Given the description of an element on the screen output the (x, y) to click on. 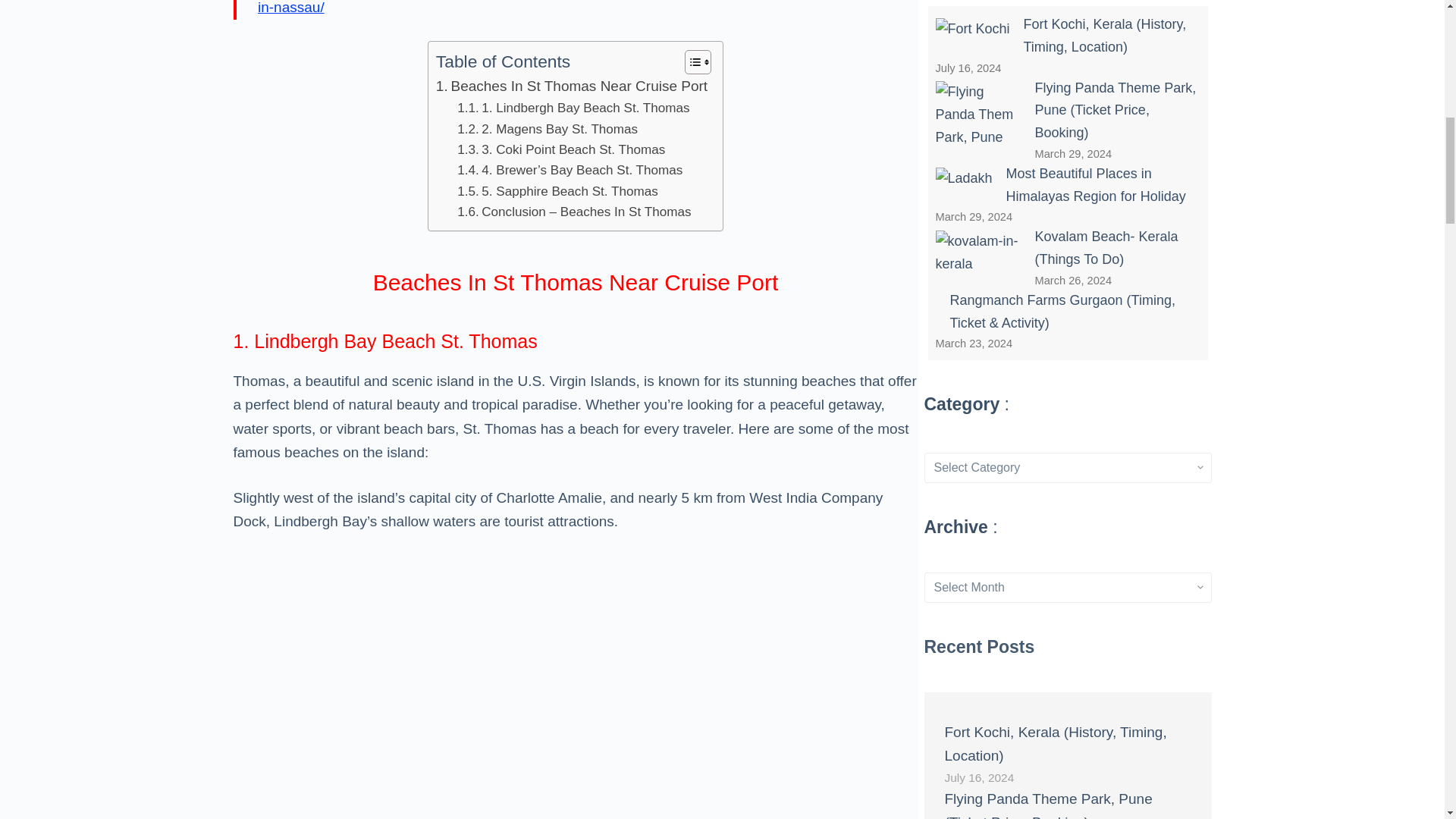
1. Lindbergh Bay Beach St. Thomas (572, 107)
3. Coki Point Beach St. Thomas (561, 149)
Beaches In St Thomas Near Cruise Port (571, 86)
2. Magens Bay St. Thomas (547, 128)
5. Sapphire Beach St. Thomas (557, 190)
